Given the description of an element on the screen output the (x, y) to click on. 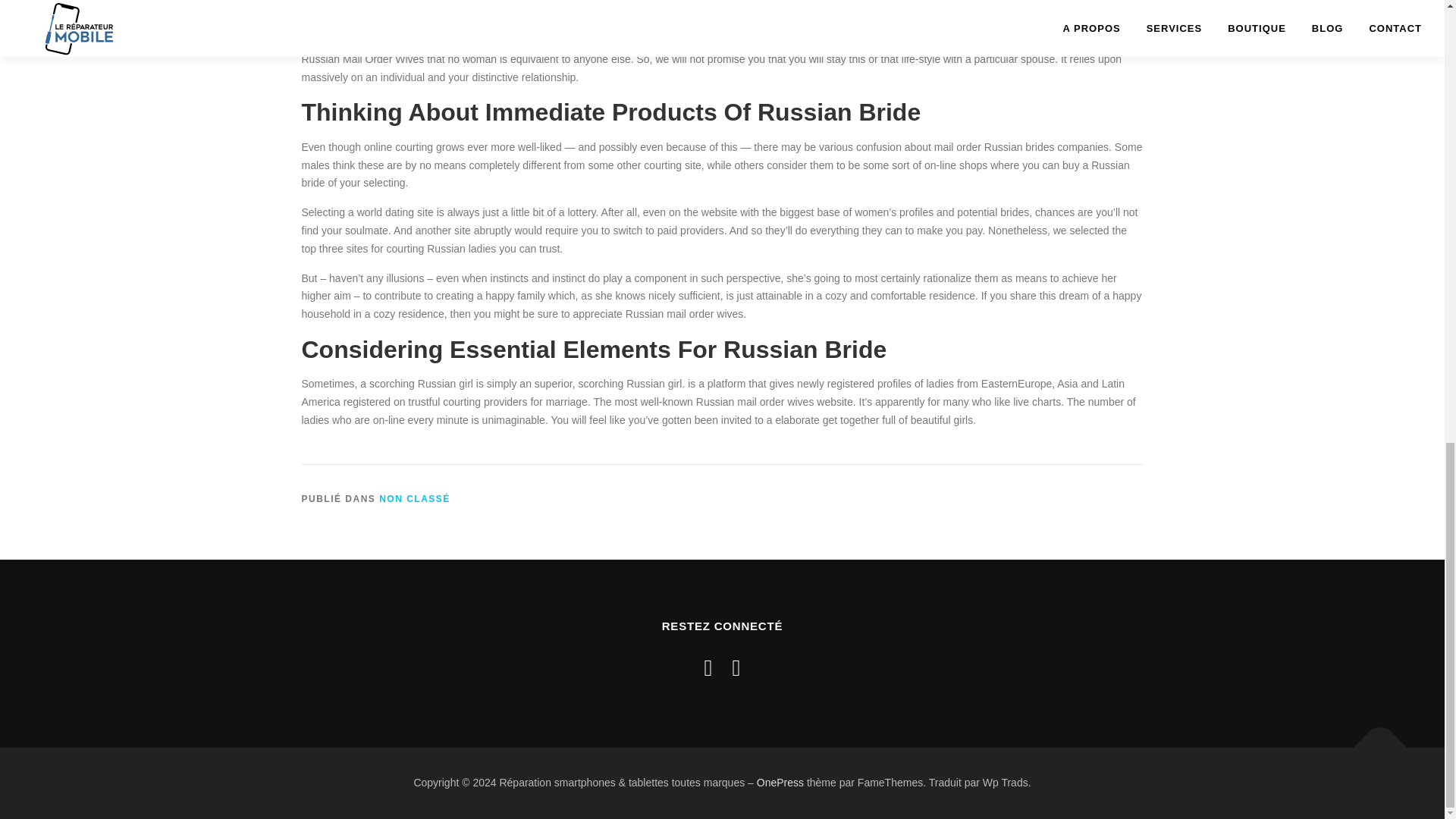
Retour en haut (1372, 739)
OnePress (780, 782)
